Given the description of an element on the screen output the (x, y) to click on. 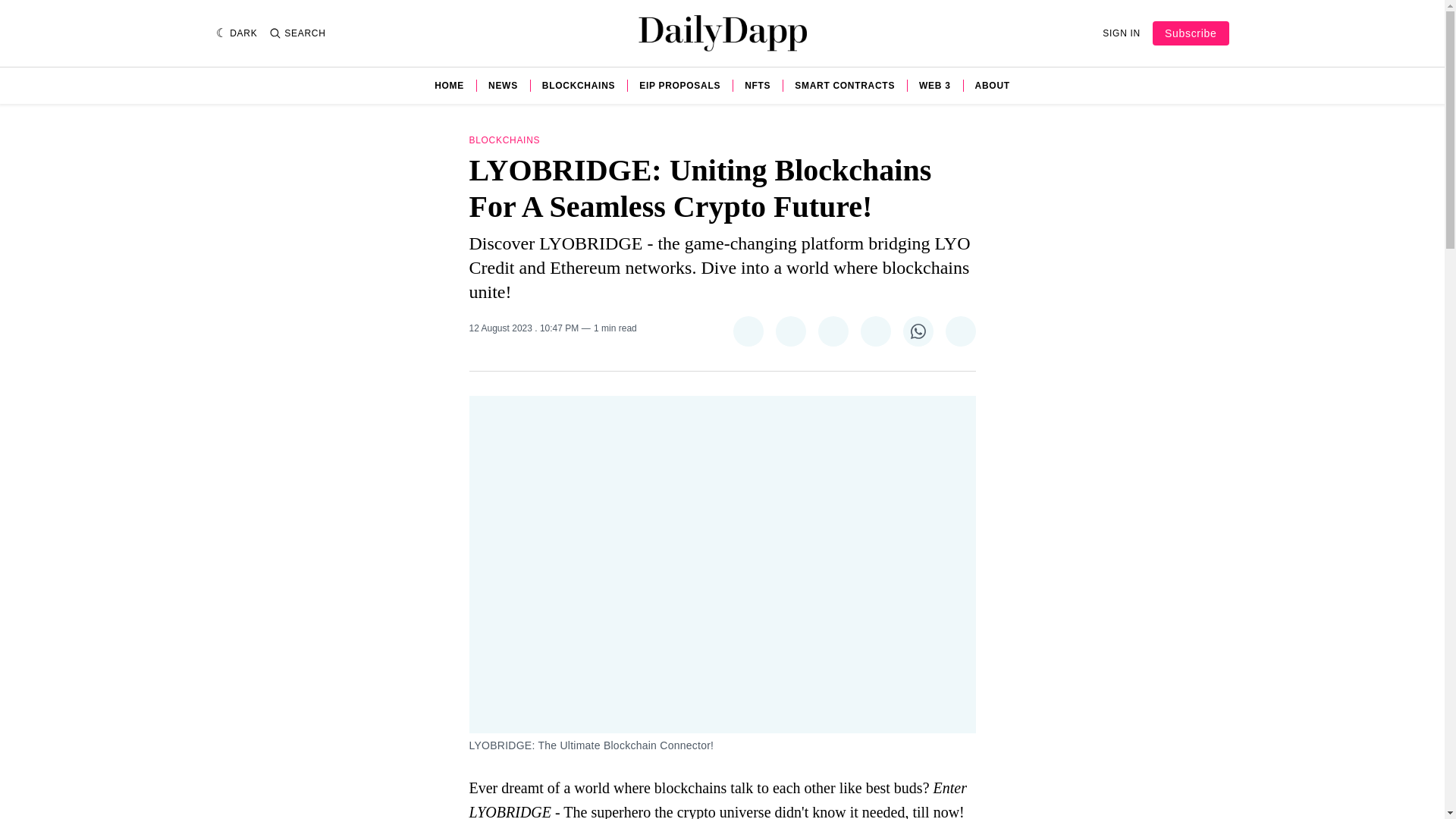
Share on WhatsApp (917, 331)
Share on Pinterest (831, 331)
EIP PROPOSALS (679, 85)
Share on LinkedIn (874, 331)
WEB 3 (934, 85)
DARK (236, 32)
BLOCKCHAINS (504, 140)
Share on Twitter (747, 331)
SMART CONTRACTS (844, 85)
BLOCKCHAINS (577, 85)
